Given the description of an element on the screen output the (x, y) to click on. 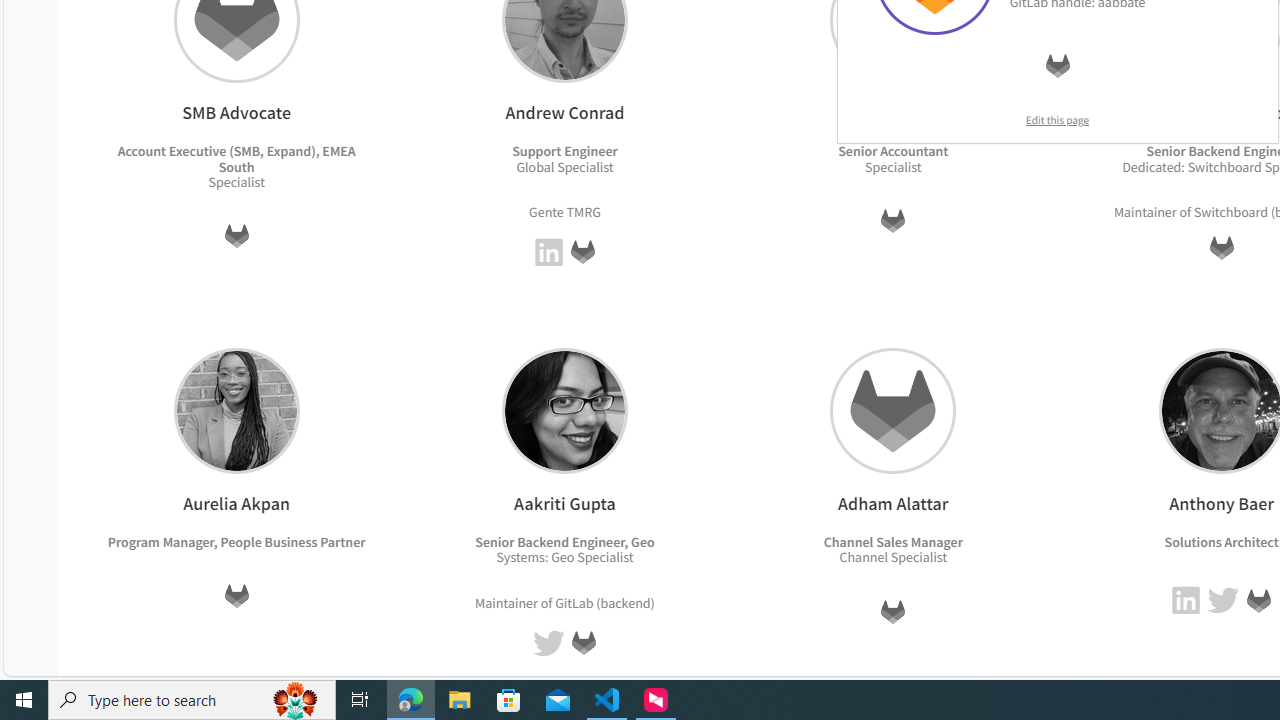
Support Engineer (565, 151)
Aakriti Gupta (564, 409)
Aakriti Gupta (564, 410)
Switchboard (1230, 211)
Maintainer (505, 602)
Senior Backend Engineer, Geo (564, 541)
GitLab (1257, 600)
Account Executive (SMB, Expand), EMEA South (235, 158)
Channel Sales Manager (892, 541)
Adham Alattar (893, 409)
Maintainer of GitLab (backend) (564, 601)
Aurelia Akpan (236, 409)
Program Manager, People Business Partner (236, 541)
Specialist (918, 557)
